Given the description of an element on the screen output the (x, y) to click on. 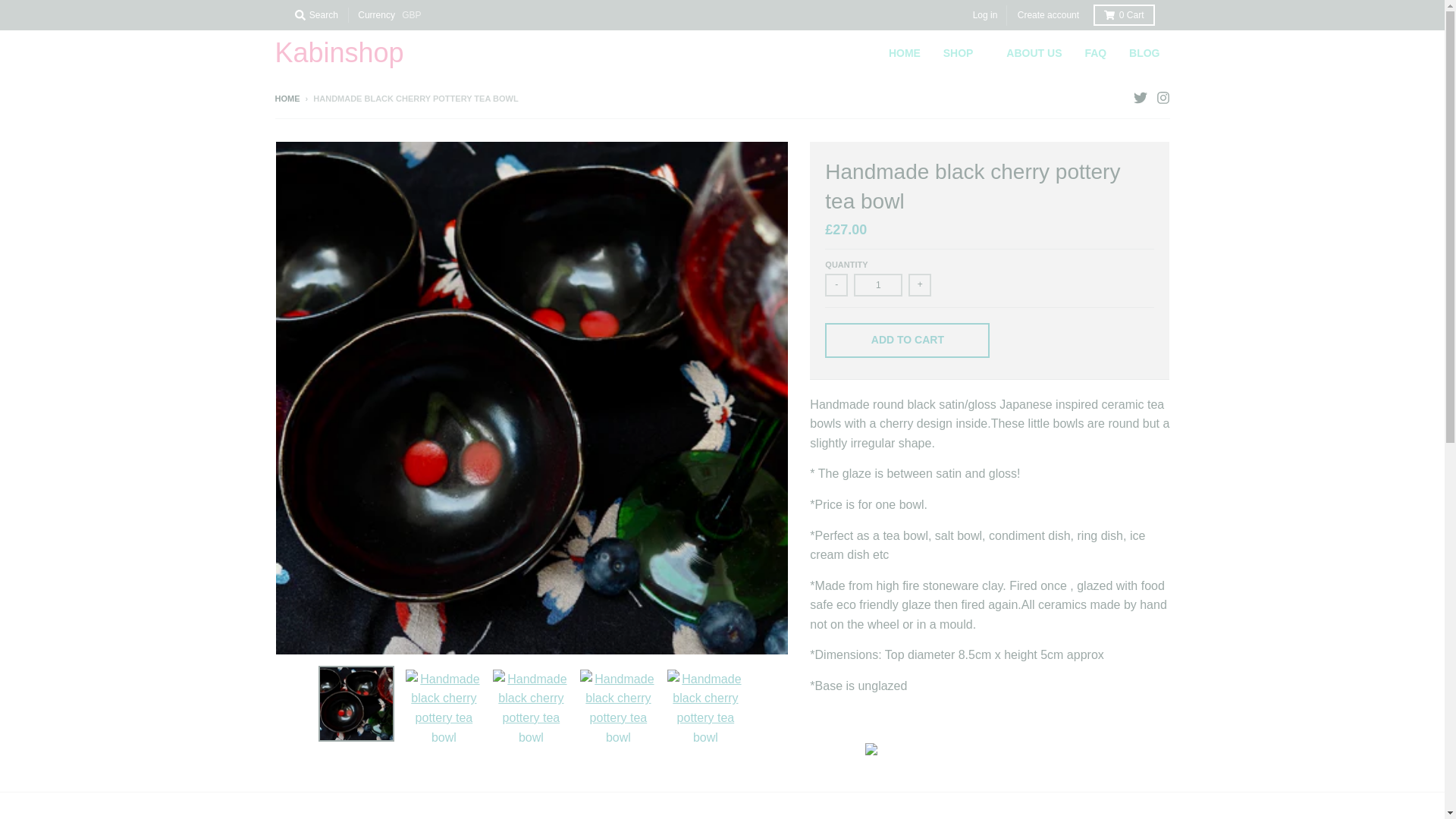
HOME (904, 52)
FAQ (1095, 52)
0 Cart (1123, 14)
SHOP (963, 52)
BLOG (1144, 52)
Twitter - Kabinshop  (1139, 97)
Instagram - Kabinshop  (1162, 97)
Create account (1048, 14)
Search (315, 14)
1 (877, 284)
